Given the description of an element on the screen output the (x, y) to click on. 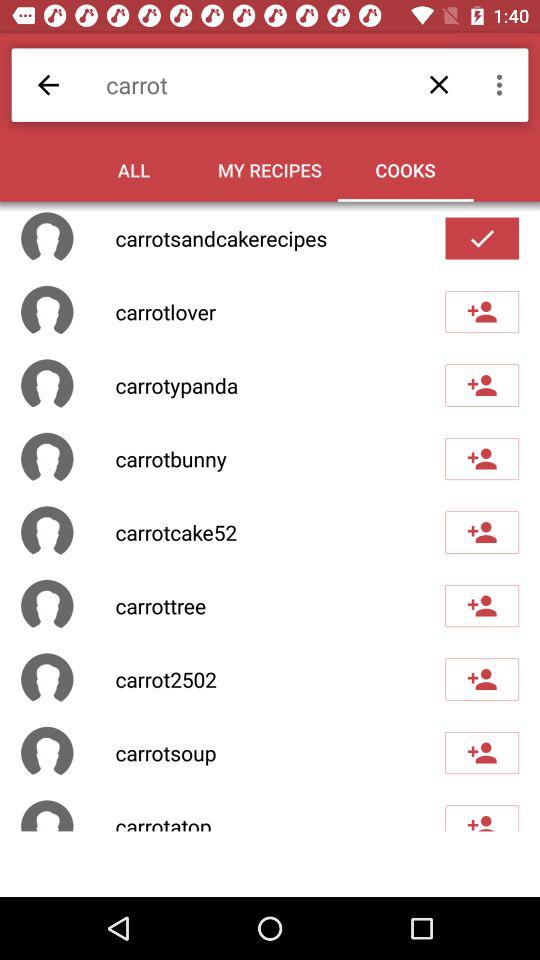
select the last second box which is right side of the carrotsoup (47, 752)
click on the tick icon (482, 238)
select the sixth add friend icon (482, 679)
select the fifth check box button of the page (482, 532)
click on the icon which is left to the text carrotypanda (47, 385)
